Given the description of an element on the screen output the (x, y) to click on. 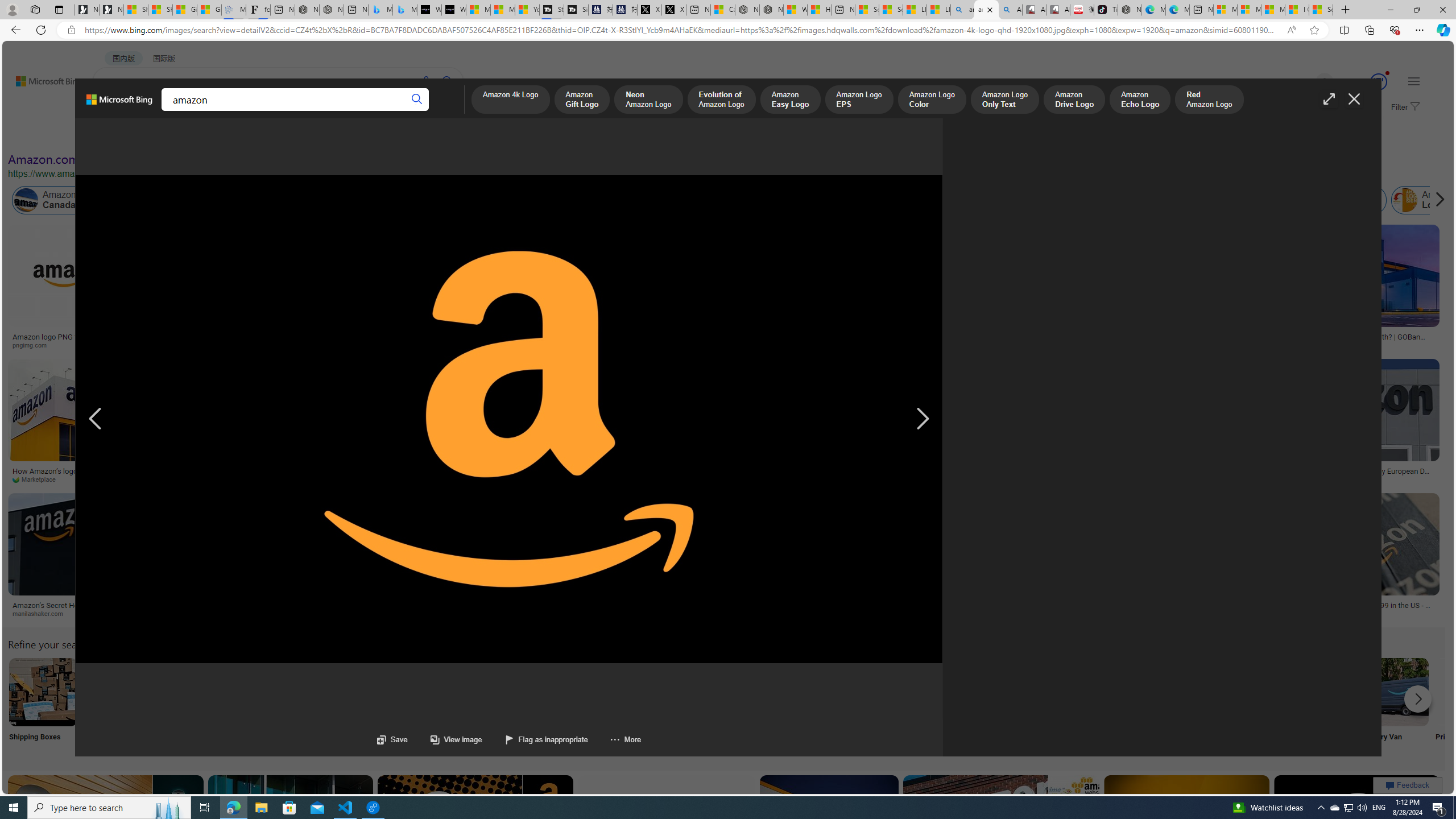
Prime Shopping Online (944, 706)
Alexa Smart Home Devices (617, 332)
latimes.com (986, 613)
Image size (126, 135)
Alexa Smart Home Devices (617, 332)
amazon.com.mx (1169, 613)
Gilma and Hector both pose tropical trouble for Hawaii (208, 9)
Nordace - Summer Adventures 2024 (770, 9)
Amazon Drive Logo (1073, 100)
TikTok (1105, 9)
3d illustration of amazon logo 18779928 PNG (577, 474)
logopng.com.br (704, 344)
